Given the description of an element on the screen output the (x, y) to click on. 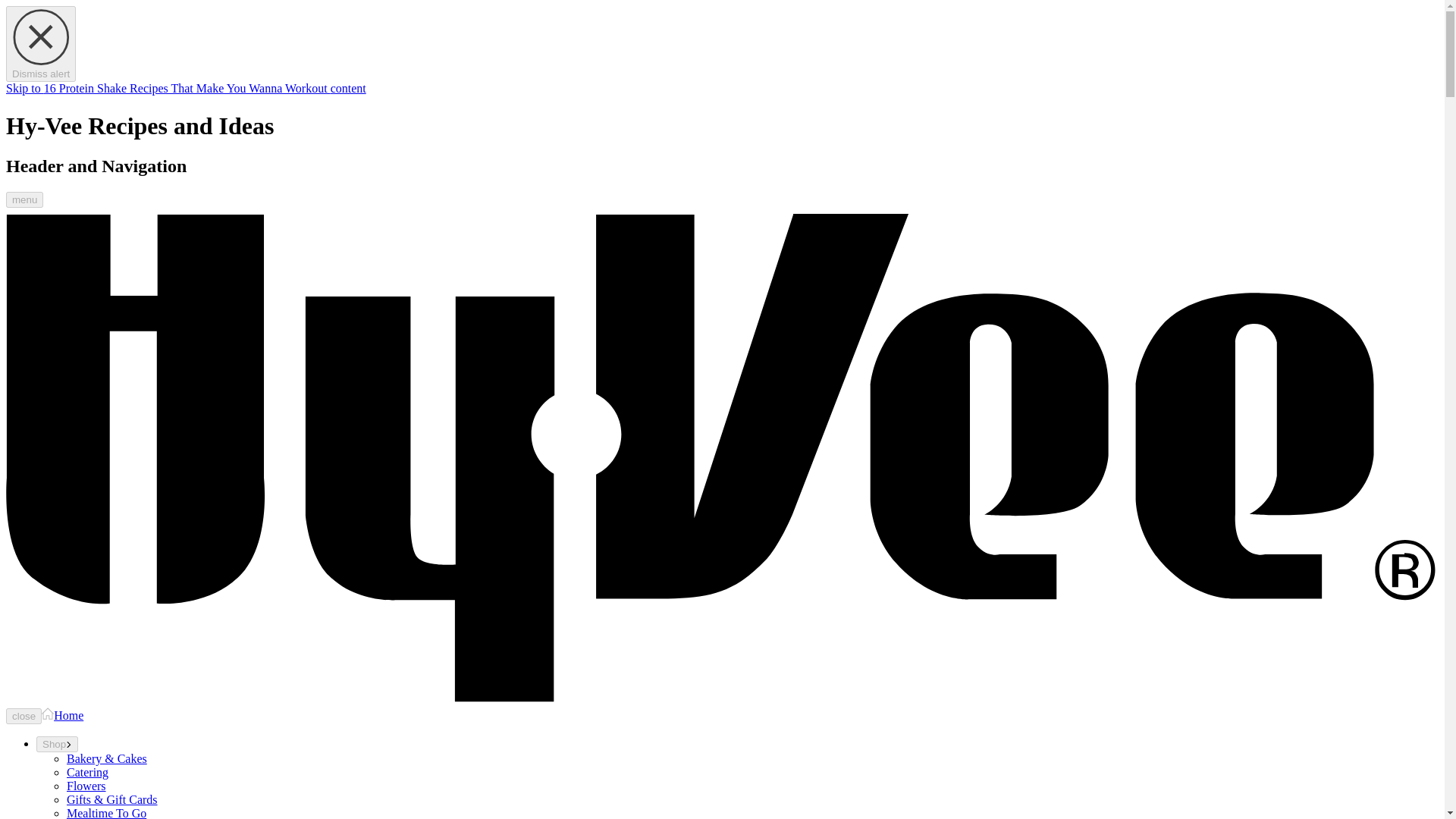
menu (24, 199)
Flowers (86, 785)
Hy-Vee (62, 715)
Catering (86, 771)
Dismiss alert (40, 43)
Mealtime To Go (106, 812)
Shop (57, 744)
close (23, 715)
Home (62, 715)
